Given the description of an element on the screen output the (x, y) to click on. 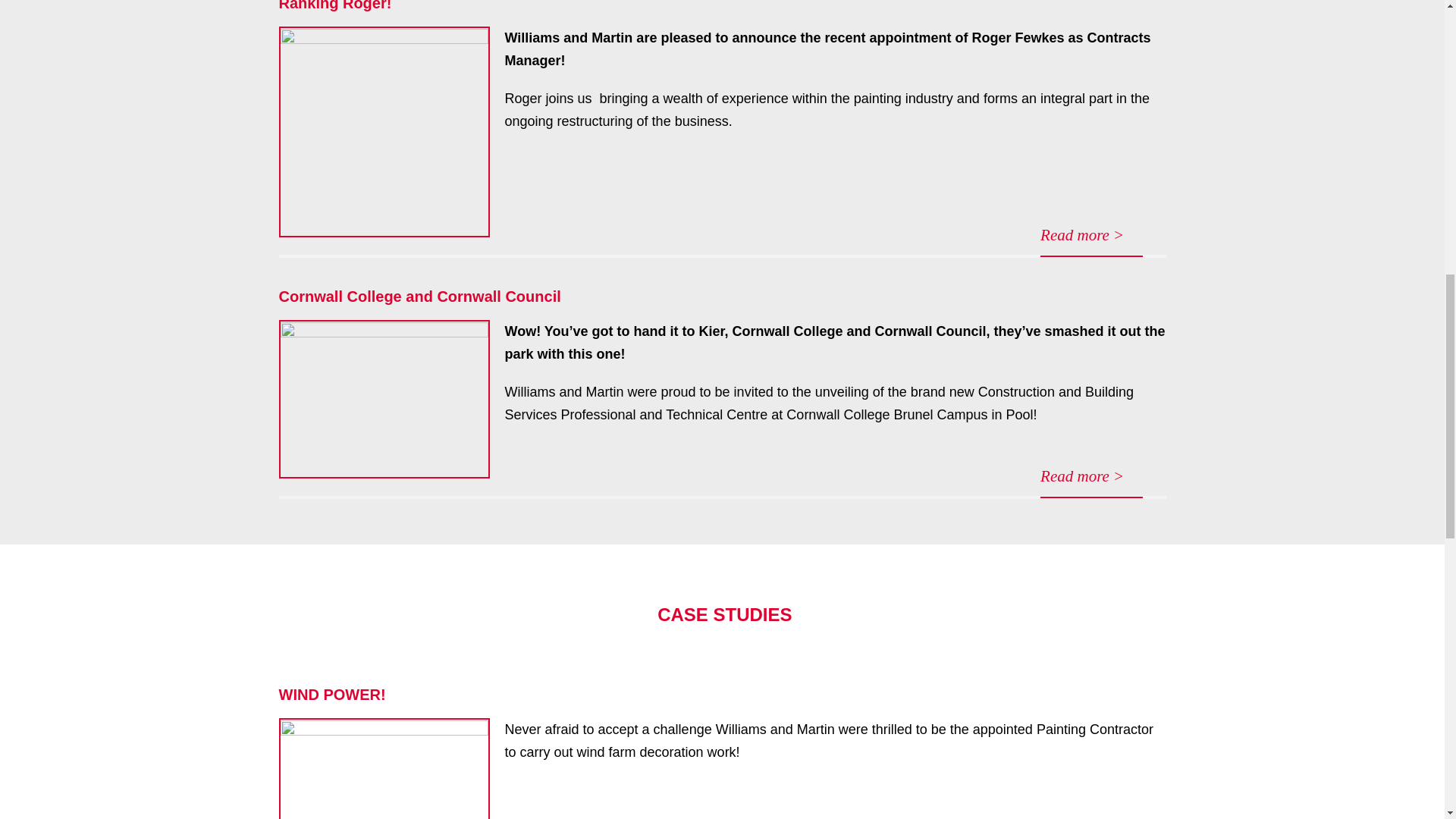
WIND POWER! (332, 694)
Cornwall College and Cornwall Council (419, 296)
Ranking Roger! (335, 5)
